Given the description of an element on the screen output the (x, y) to click on. 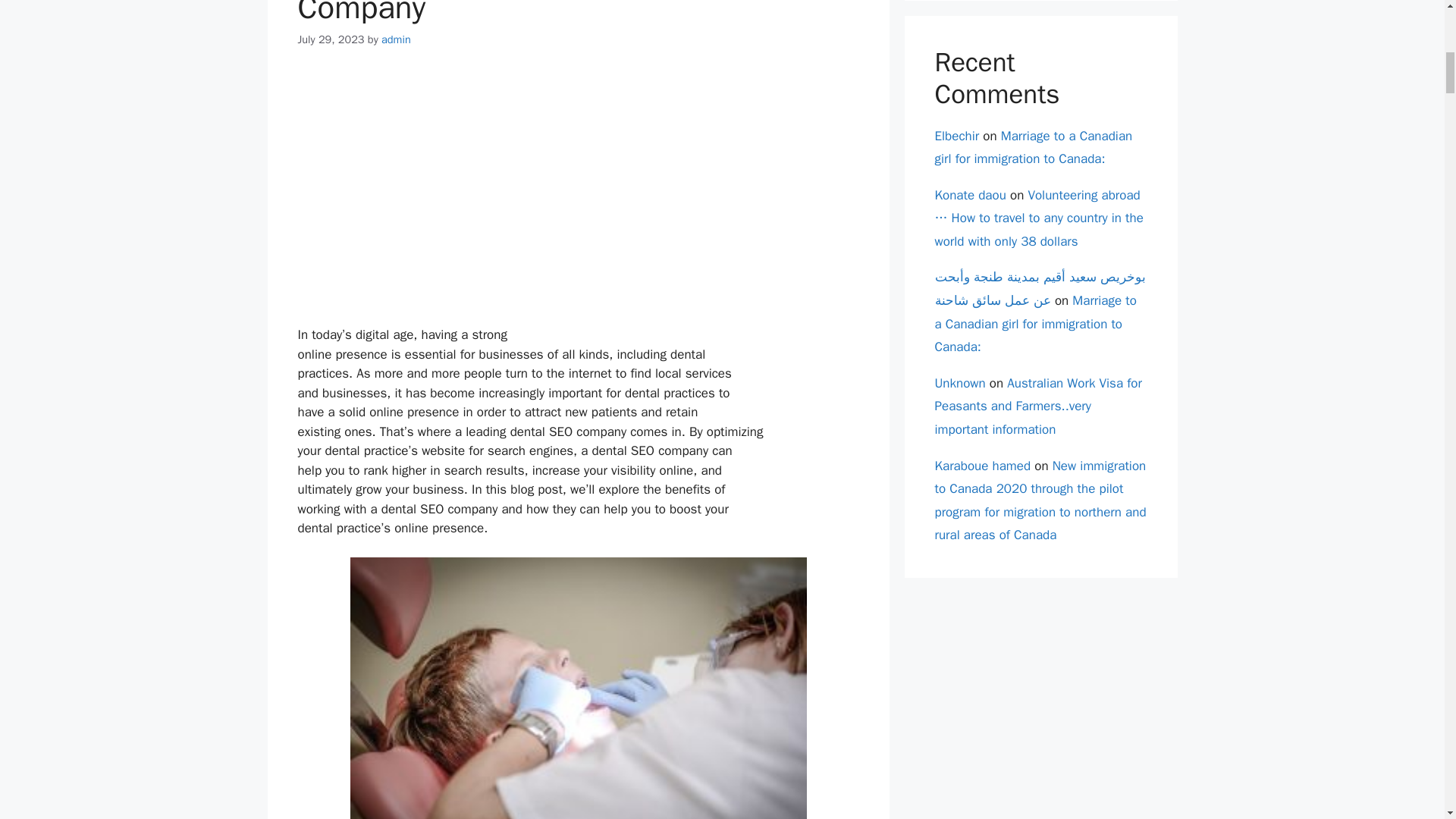
Marriage to a Canadian girl for immigration to Canada: (1034, 323)
Unknown (959, 383)
View all posts by admin (395, 38)
Elbechir (956, 135)
Konate daou (970, 195)
admin (395, 38)
Marriage to a Canadian girl for immigration to Canada: (1033, 147)
Karaboue hamed (982, 465)
